Given the description of an element on the screen output the (x, y) to click on. 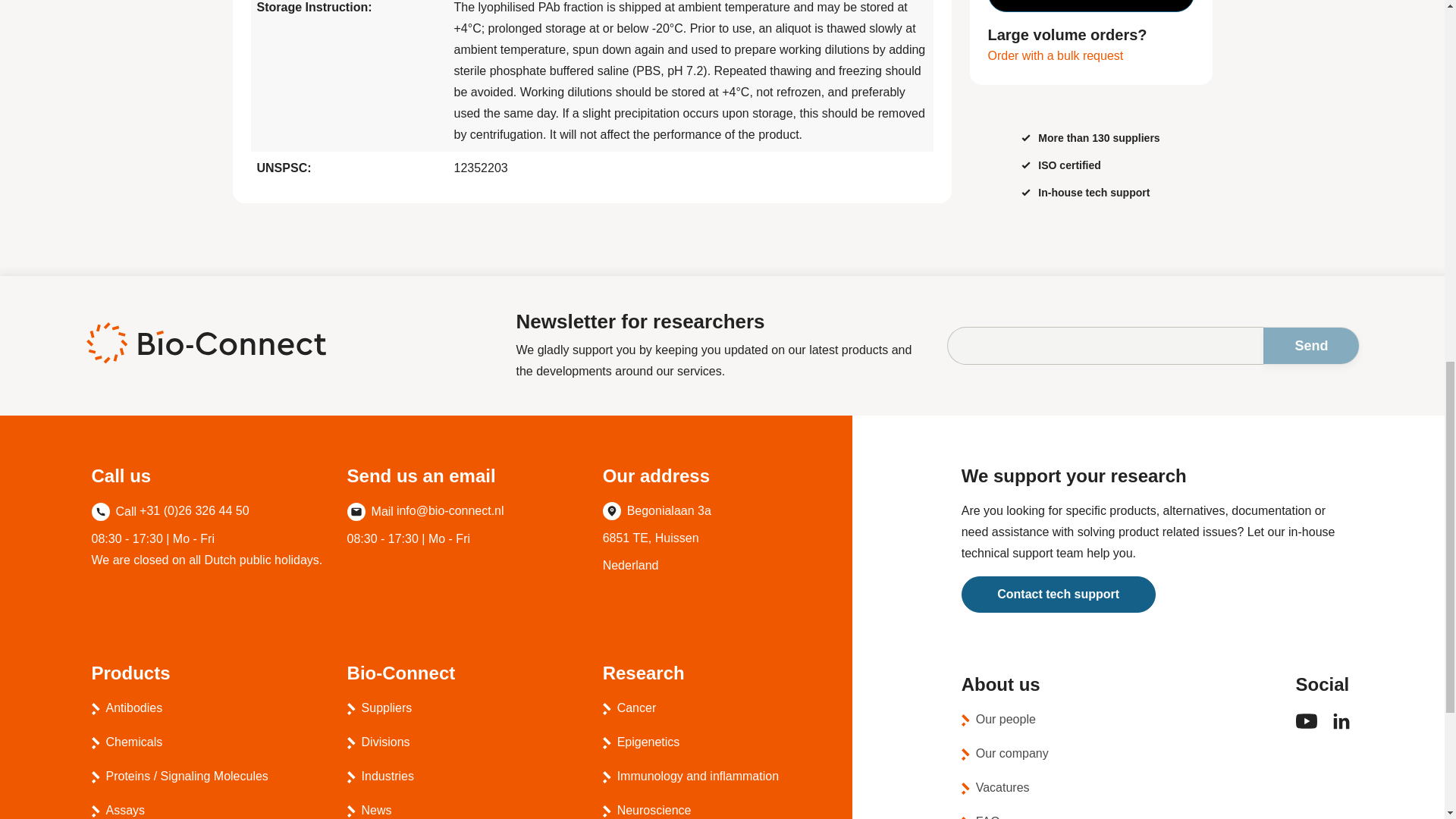
YouTube (1306, 727)
LinkedIn (1341, 728)
Bio-Connect (205, 342)
